Given the description of an element on the screen output the (x, y) to click on. 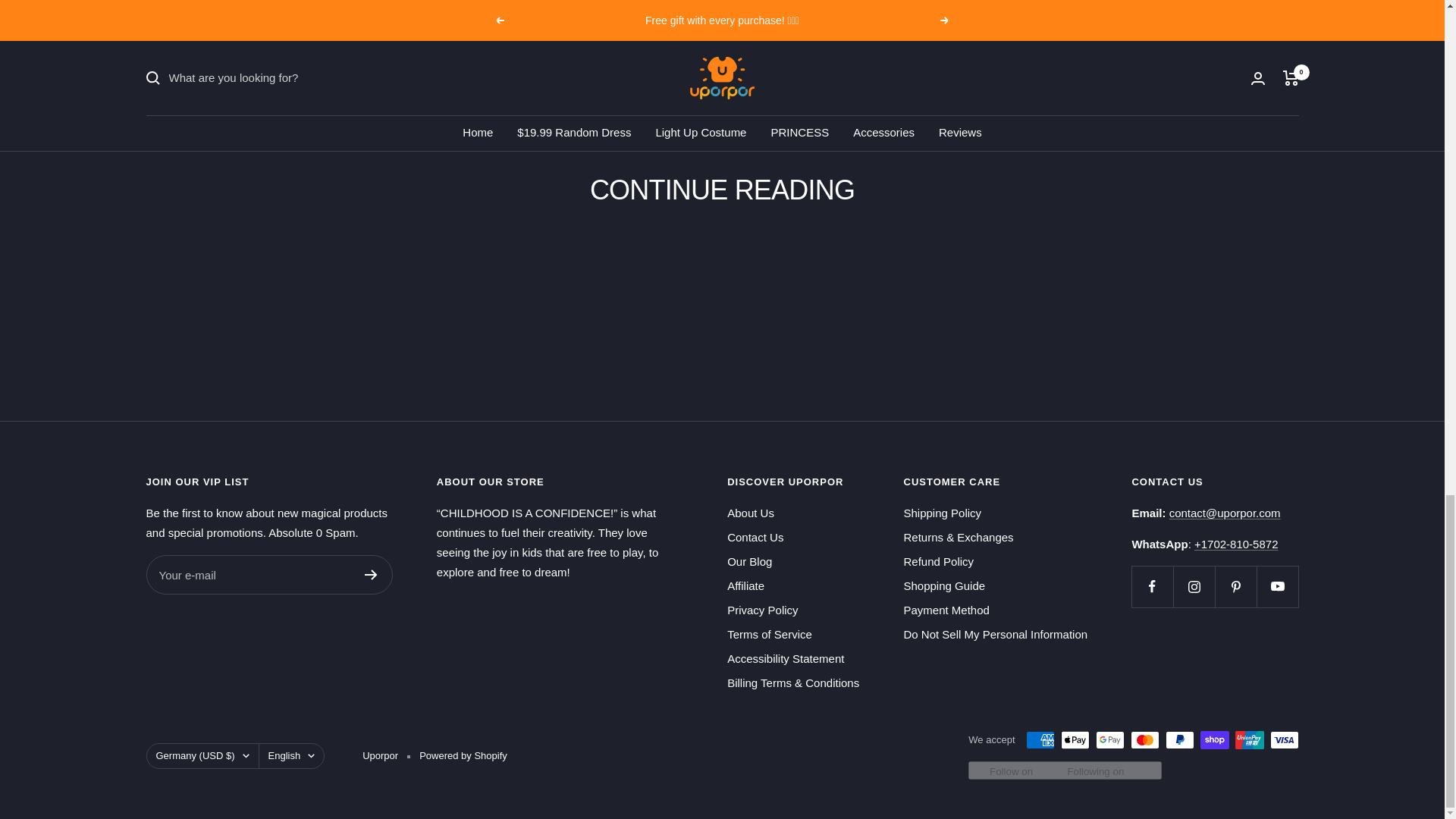
Register (370, 574)
Disney princess (760, 24)
About Us (750, 513)
